Given the description of an element on the screen output the (x, y) to click on. 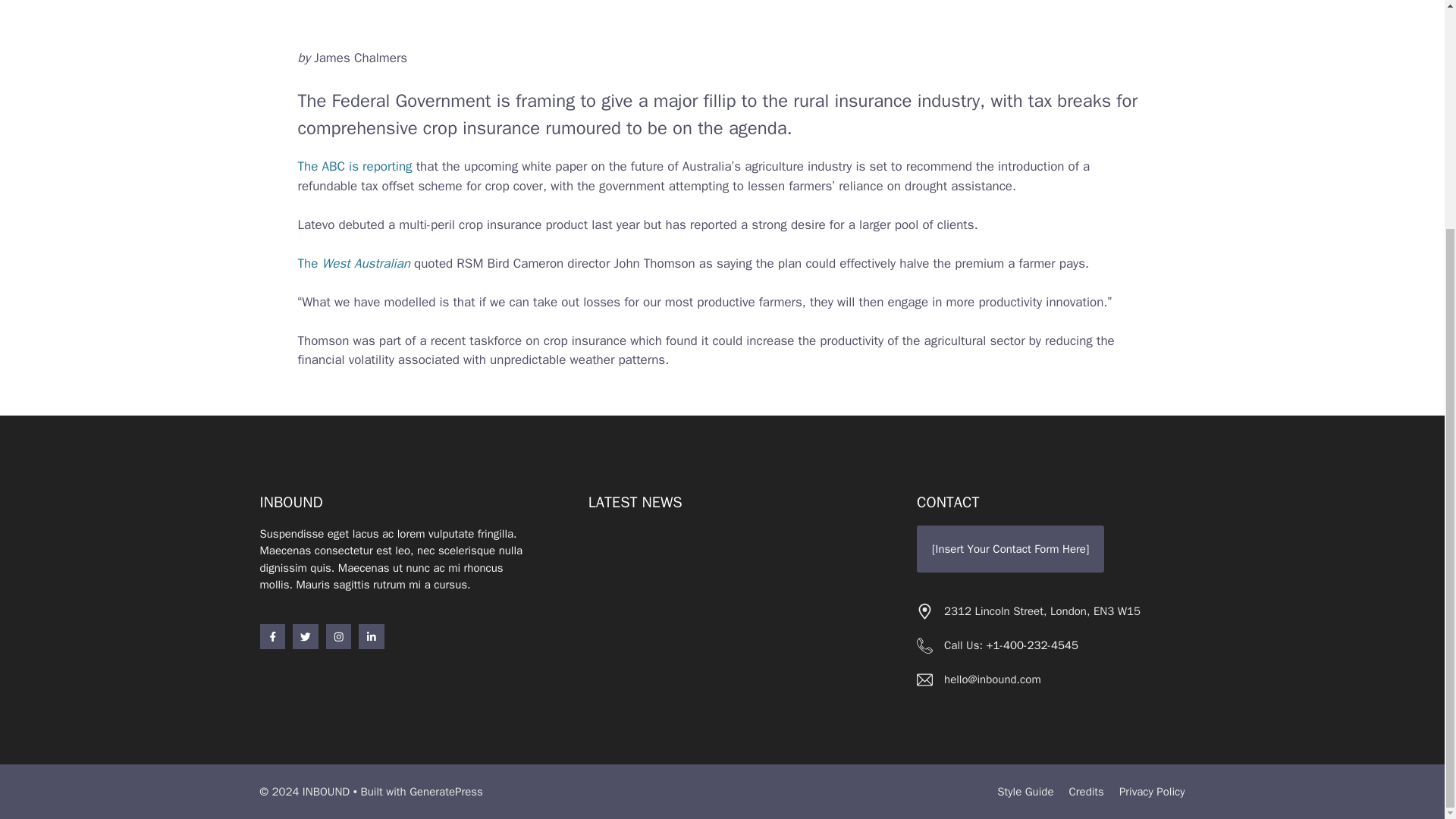
Privacy Policy (1152, 791)
Style Guide (1024, 791)
The ABC is reporting (354, 166)
GeneratePress (446, 791)
Credits (1085, 791)
The West Australian (353, 263)
